Given the description of an element on the screen output the (x, y) to click on. 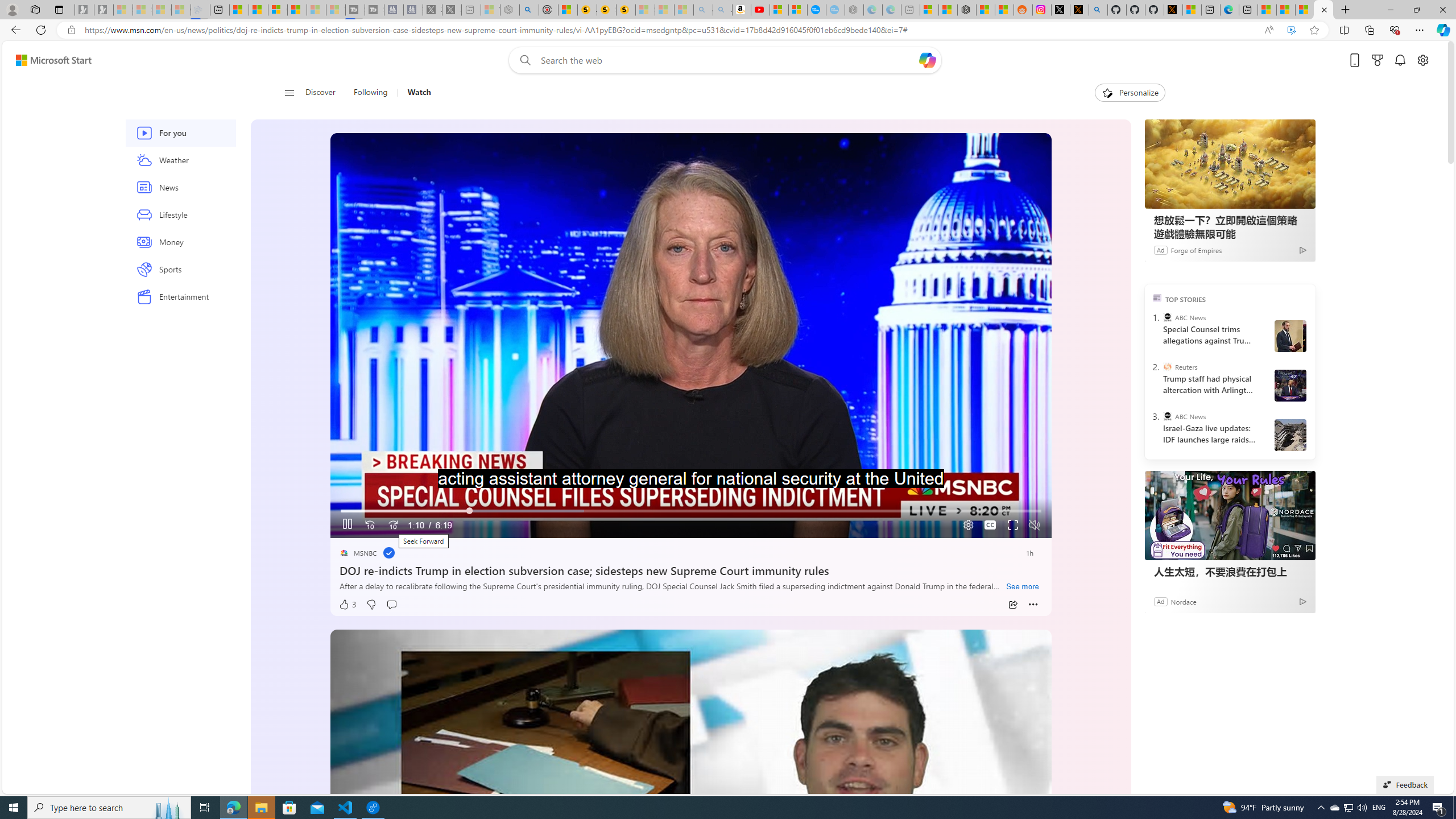
amazon - Search - Sleeping (702, 9)
See more (1022, 586)
Enhance video (1291, 29)
Nordace - Nordace has arrived Hong Kong - Sleeping (853, 9)
Quality Settings (967, 525)
Web search (523, 60)
Class: button-glyph (289, 92)
Nordace - Summer Adventures 2024 - Sleeping (509, 9)
placeholder MSNBC (358, 552)
Progress Bar (690, 510)
